Given the description of an element on the screen output the (x, y) to click on. 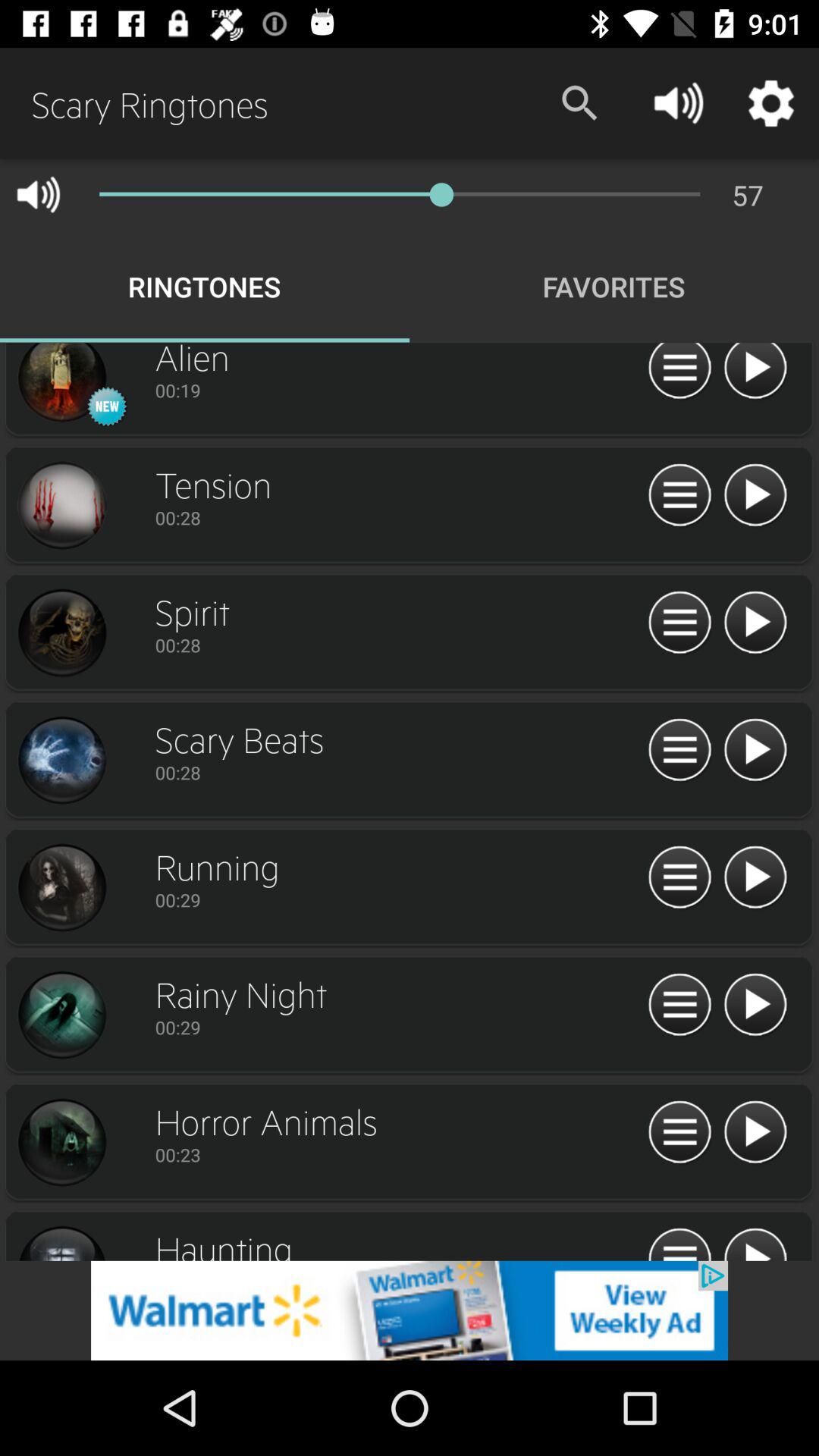
play an (755, 495)
